Given the description of an element on the screen output the (x, y) to click on. 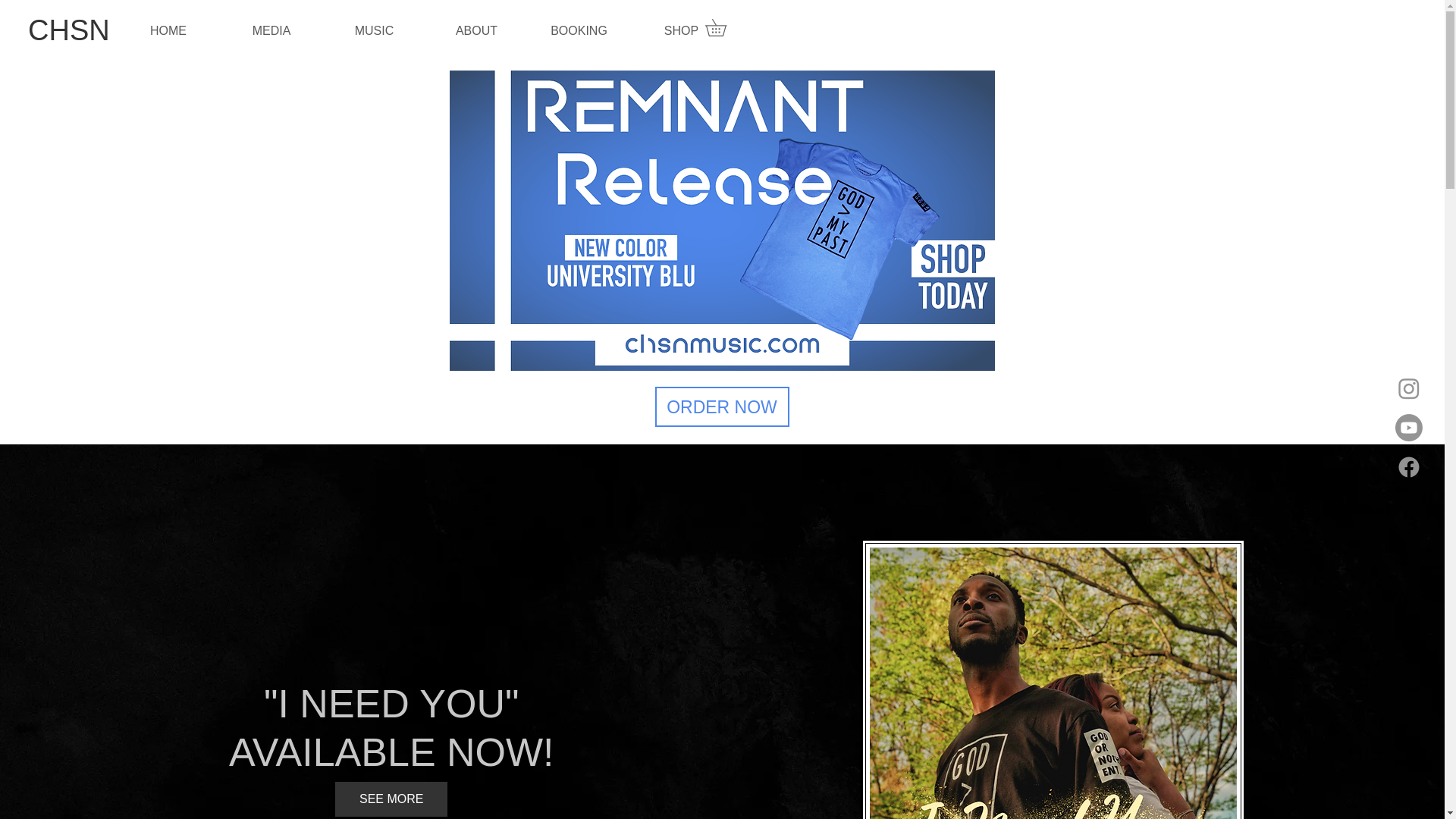
MEDIA (271, 30)
SEE MORE (390, 799)
BOOKING (578, 30)
SHOP (681, 30)
MUSIC (374, 30)
HOME (167, 30)
ABOUT (476, 30)
CHSN (68, 29)
ORDER NOW (722, 406)
